Given the description of an element on the screen output the (x, y) to click on. 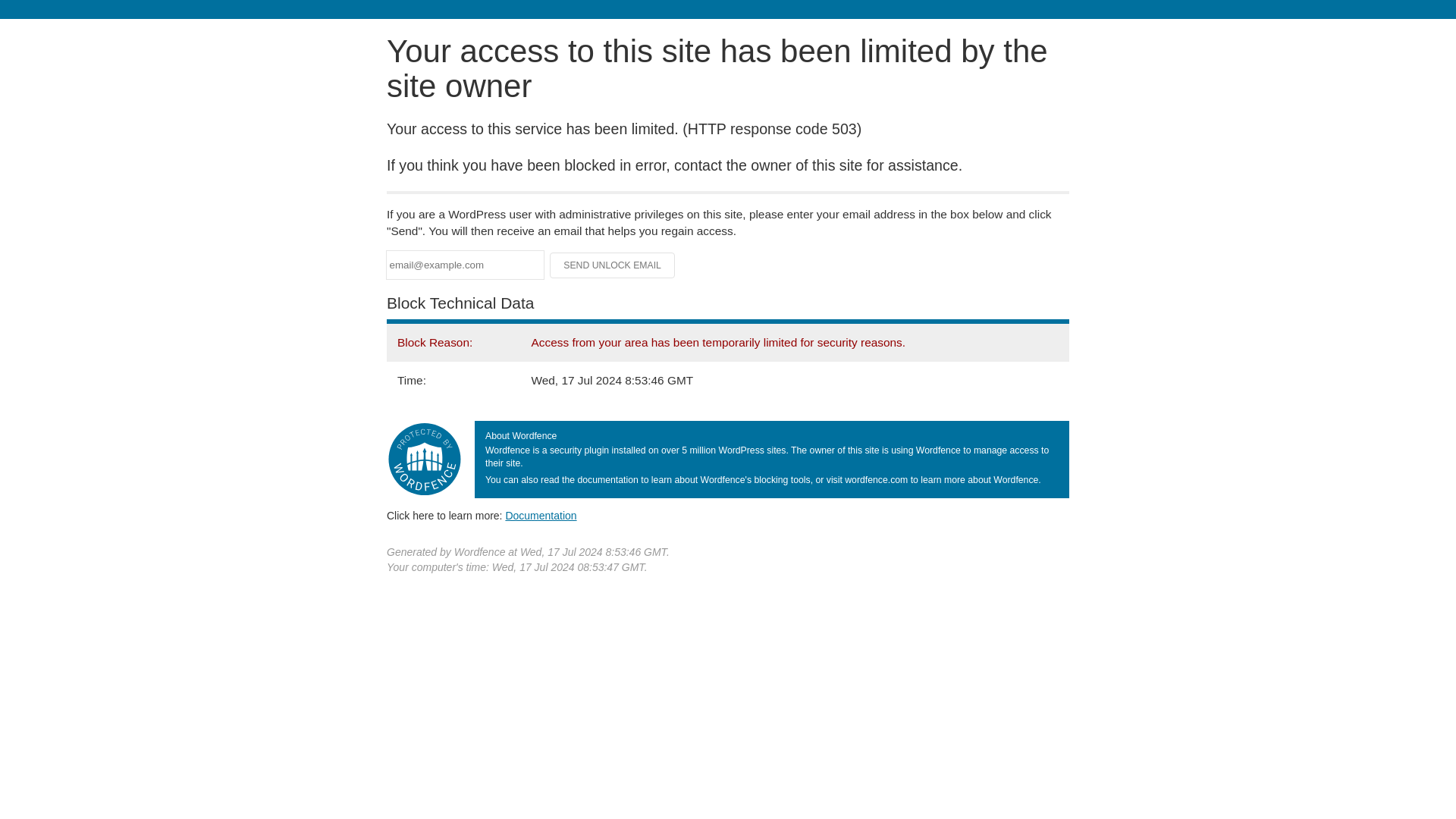
Send Unlock Email (612, 265)
Send Unlock Email (612, 265)
Documentation (540, 515)
